Given the description of an element on the screen output the (x, y) to click on. 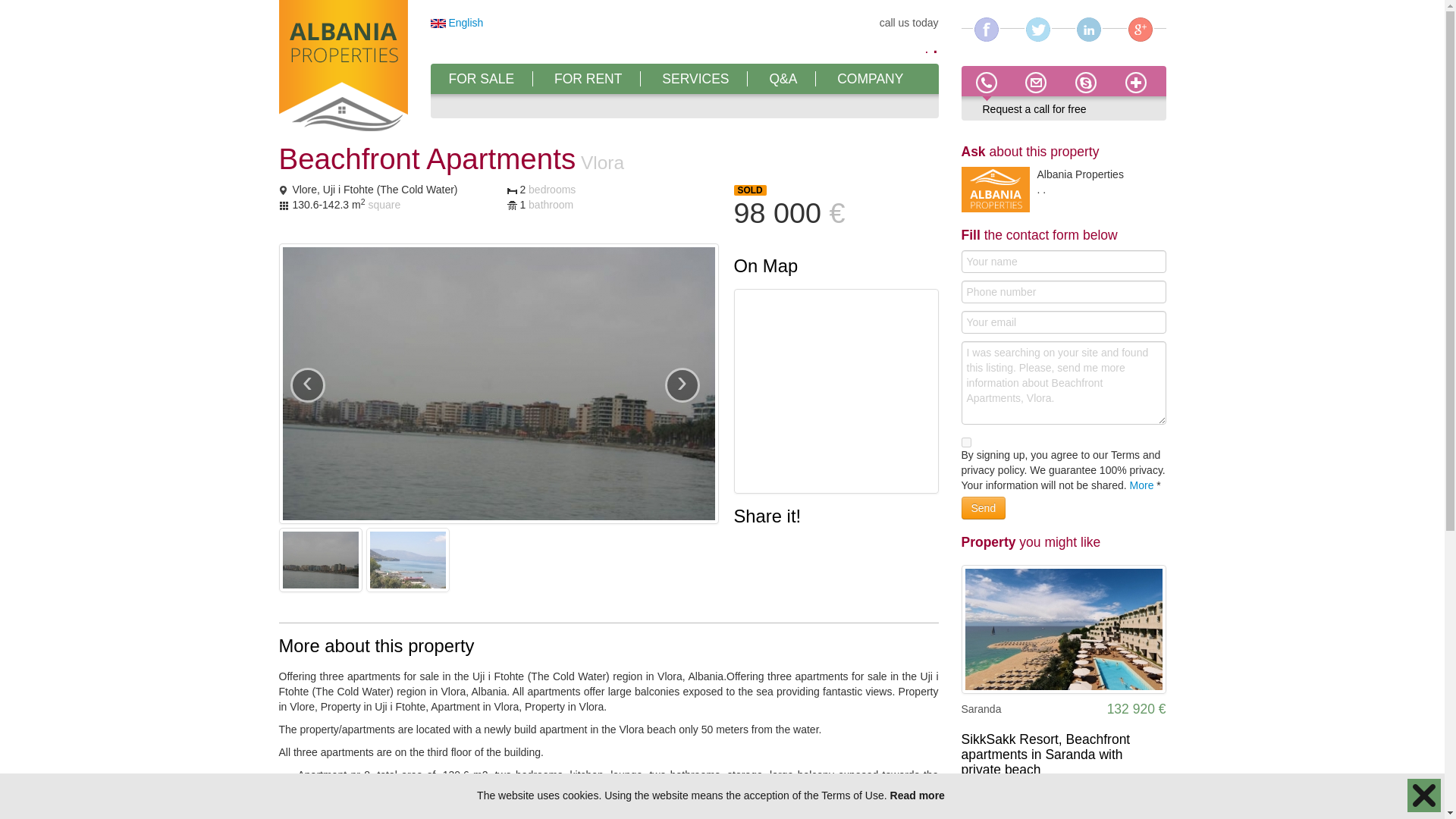
Beachfront Apartments (456, 22)
Request a call for free (1034, 109)
FOR SALE (482, 78)
1 (965, 442)
Home (343, 67)
SERVICES (695, 78)
English (456, 22)
COMPANY (869, 78)
Send (983, 507)
FOR RENT (587, 78)
